Given the description of an element on the screen output the (x, y) to click on. 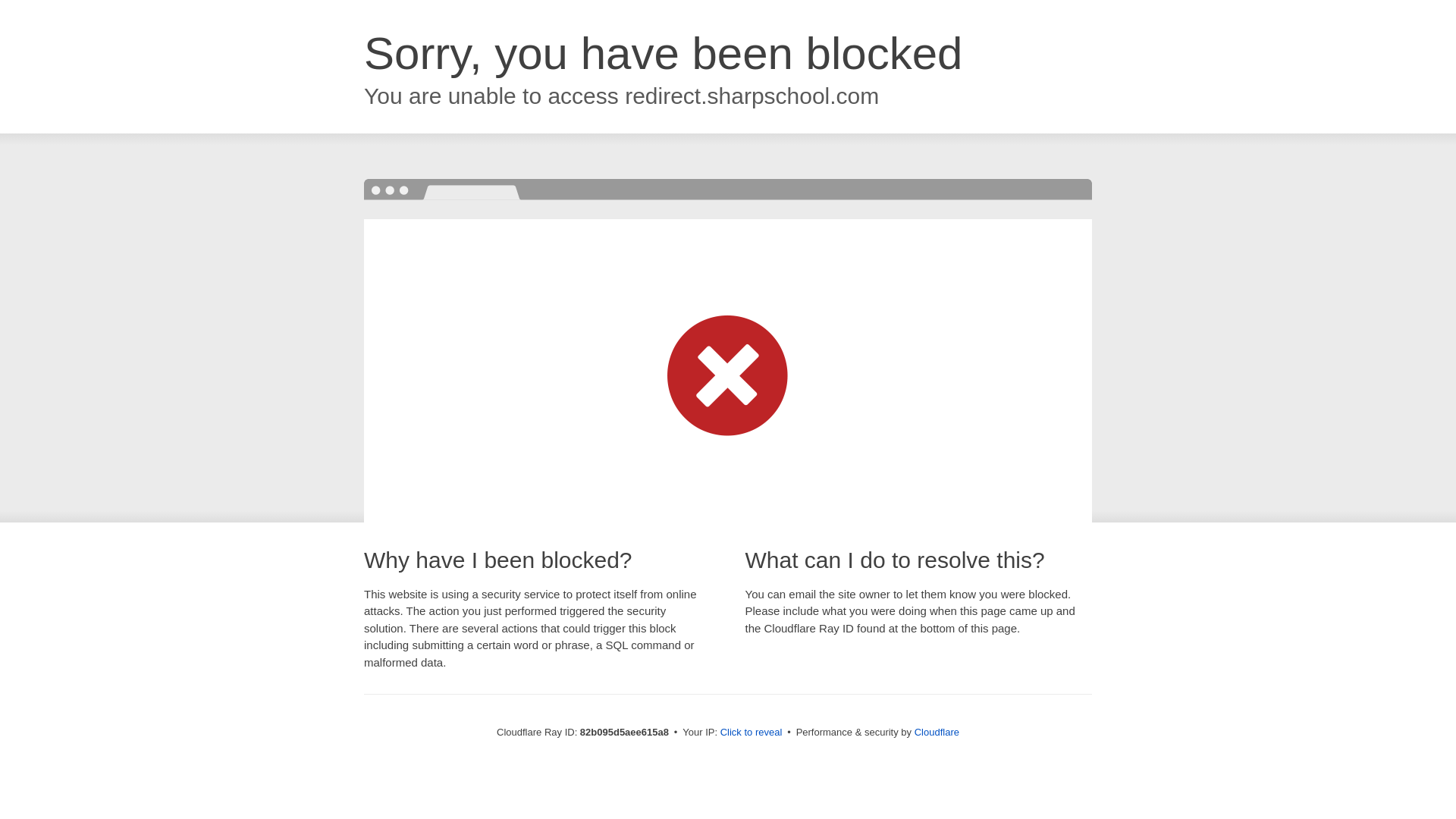
Cloudflare Element type: text (936, 731)
Click to reveal Element type: text (751, 732)
